Given the description of an element on the screen output the (x, y) to click on. 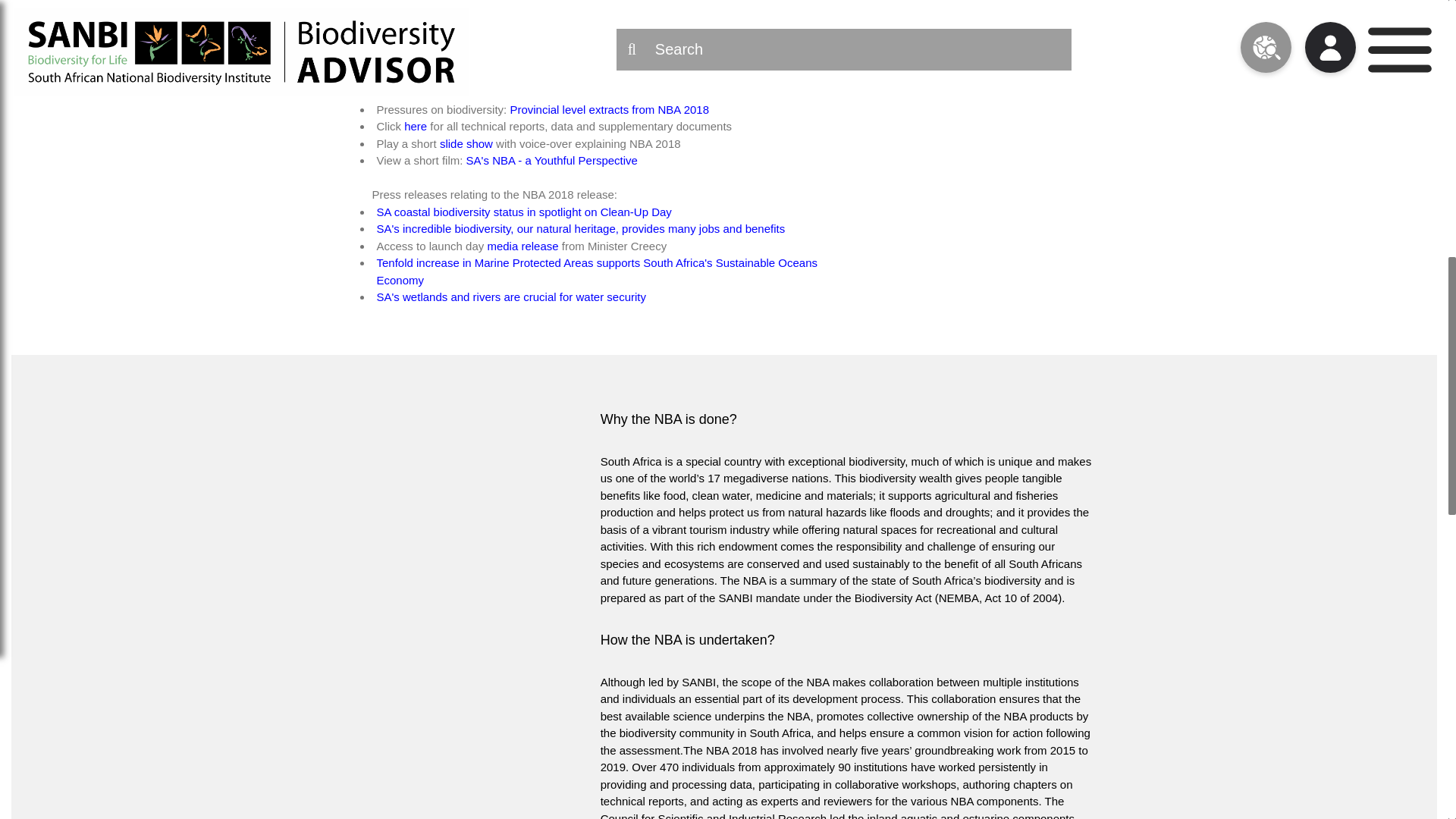
Provincial level extracts from NBA 2018 (609, 109)
Synthesis Report Book (433, 74)
slide show (464, 143)
here (415, 125)
SA's wetlands and rivers are crucial for water security (510, 296)
Facts, Findings and Messages booklet (517, 91)
SA coastal biodiversity status in spotlight on Clean-Up Day (523, 211)
SA's NBA - a Youthful Perspective (550, 160)
